Given the description of an element on the screen output the (x, y) to click on. 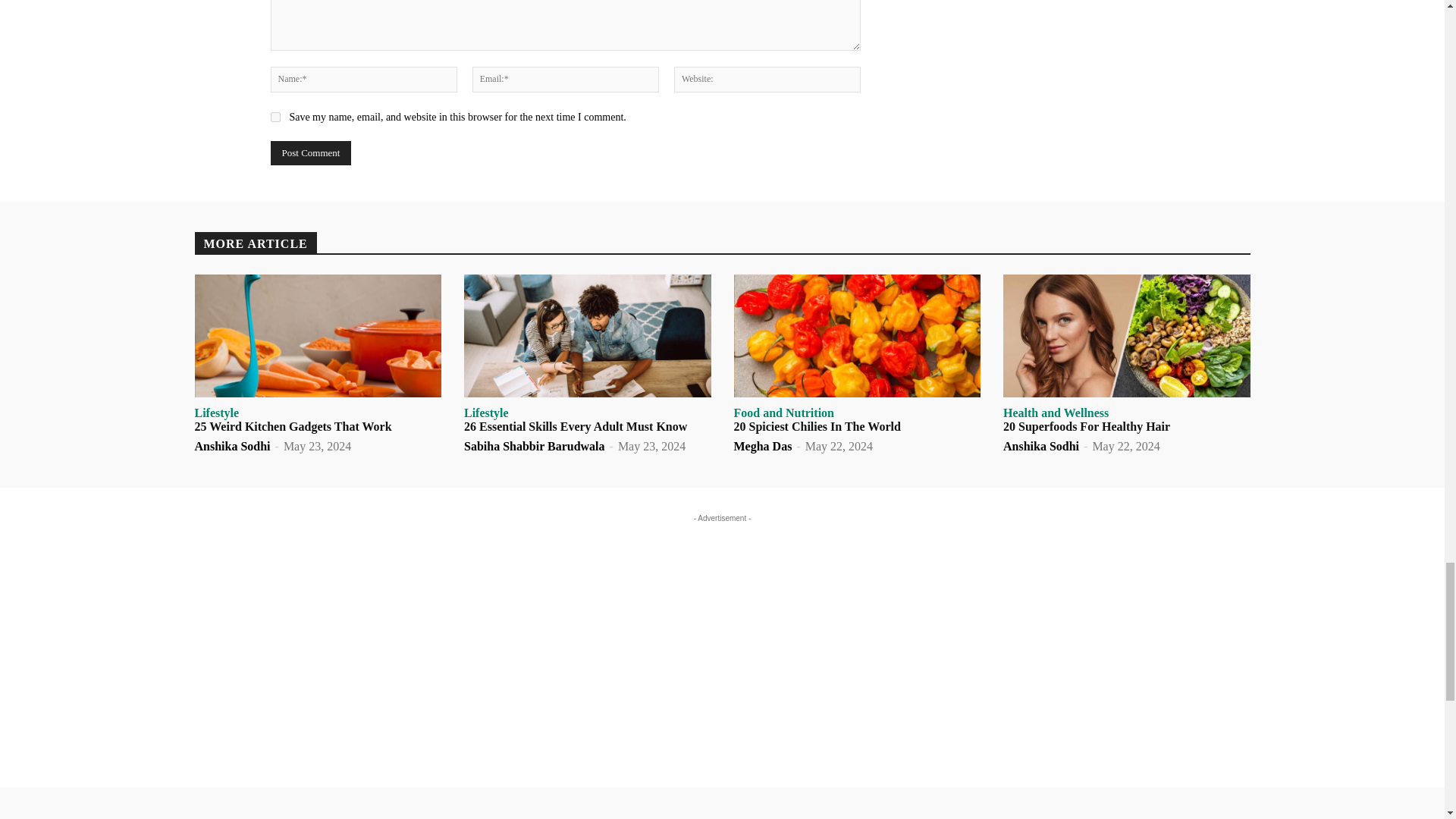
Post Comment (309, 152)
yes (274, 117)
